Given the description of an element on the screen output the (x, y) to click on. 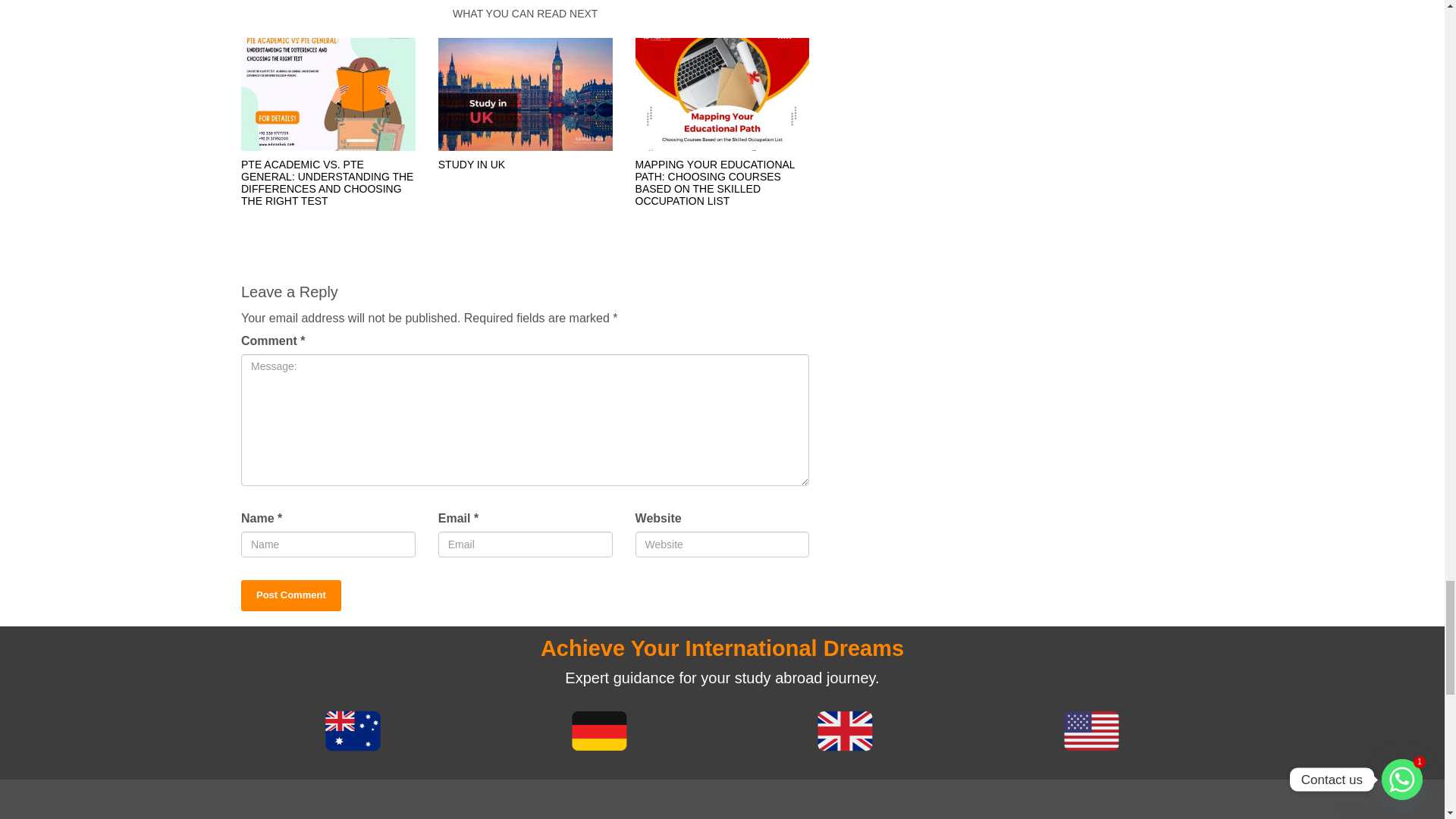
Post Comment (290, 594)
